Given the description of an element on the screen output the (x, y) to click on. 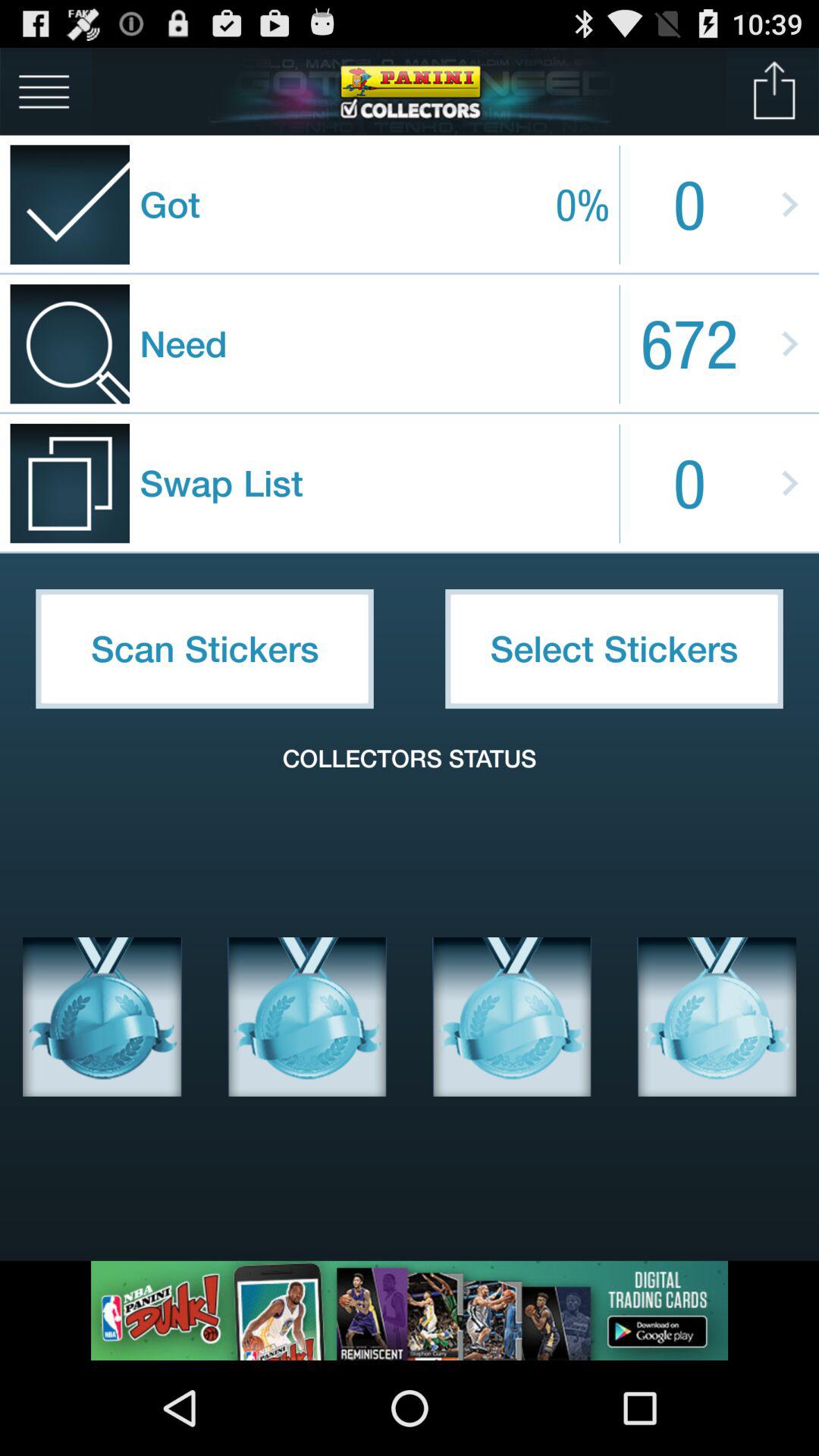
turn on the item next to the 0% icon (774, 91)
